Given the description of an element on the screen output the (x, y) to click on. 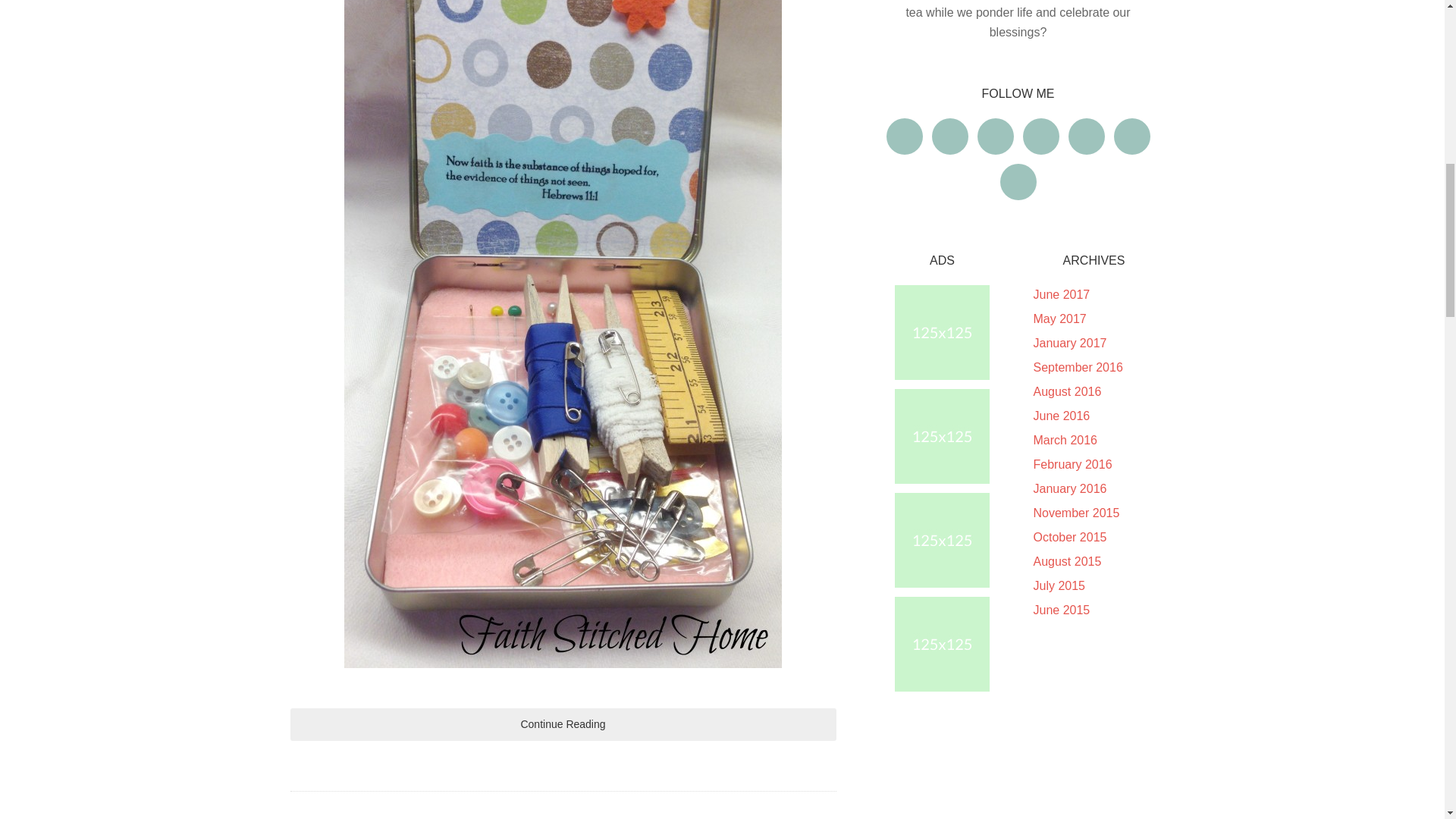
May 2017 (1059, 318)
January 2016 (1069, 488)
June 2015 (1060, 609)
August 2016 (1066, 391)
July 2015 (1058, 585)
September 2016 (1077, 367)
November 2015 (1075, 512)
August 2015 (1066, 561)
February 2016 (1072, 463)
January 2017 (1069, 342)
